Given the description of an element on the screen output the (x, y) to click on. 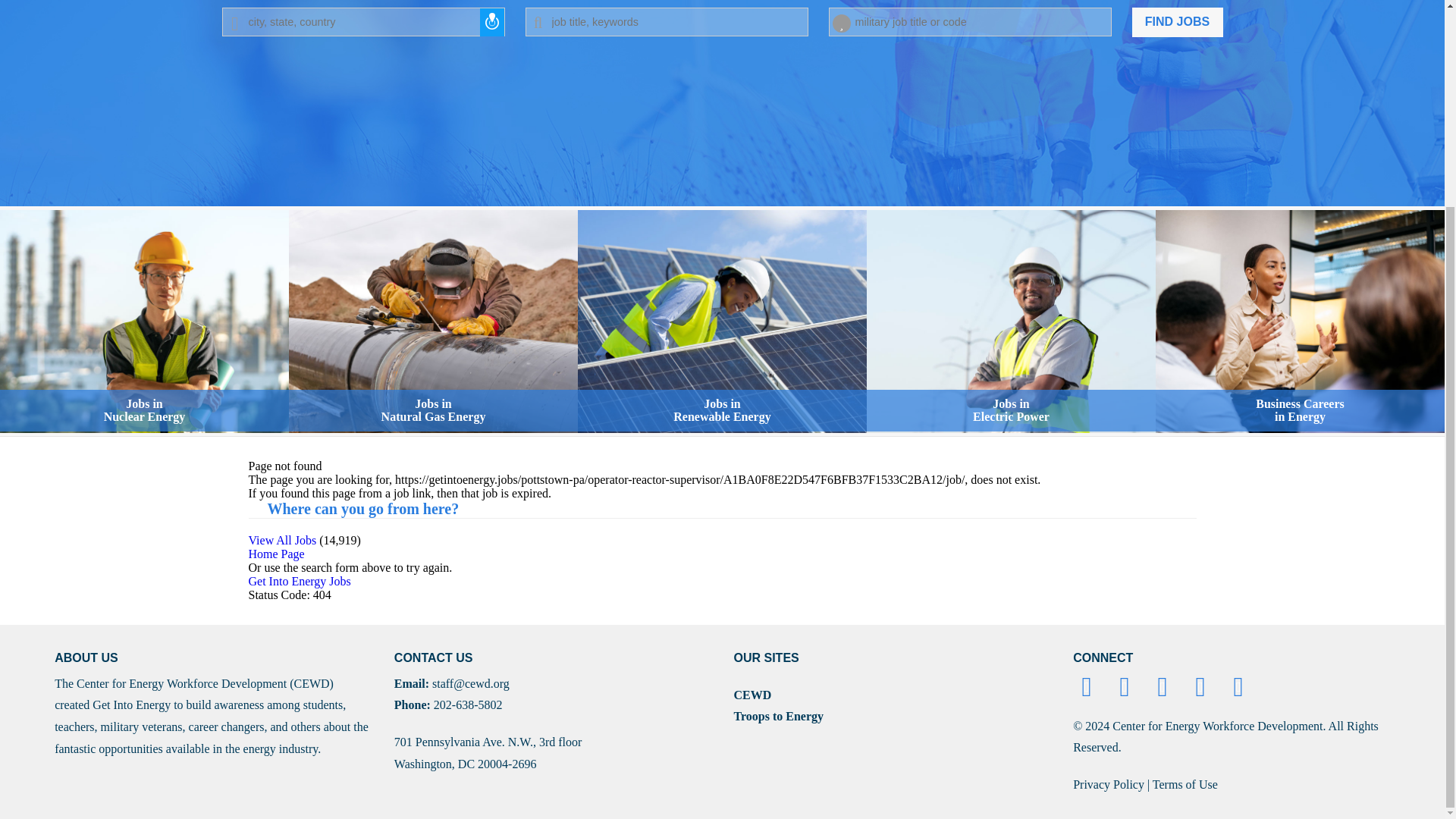
View All Jobs (1011, 322)
Get Into Energy Jobs (282, 540)
Search Phrase (299, 581)
Home Page (666, 21)
Instagram (276, 553)
Troops to Energy (1127, 686)
FIND JOBS (778, 716)
Search Location (433, 322)
